Given the description of an element on the screen output the (x, y) to click on. 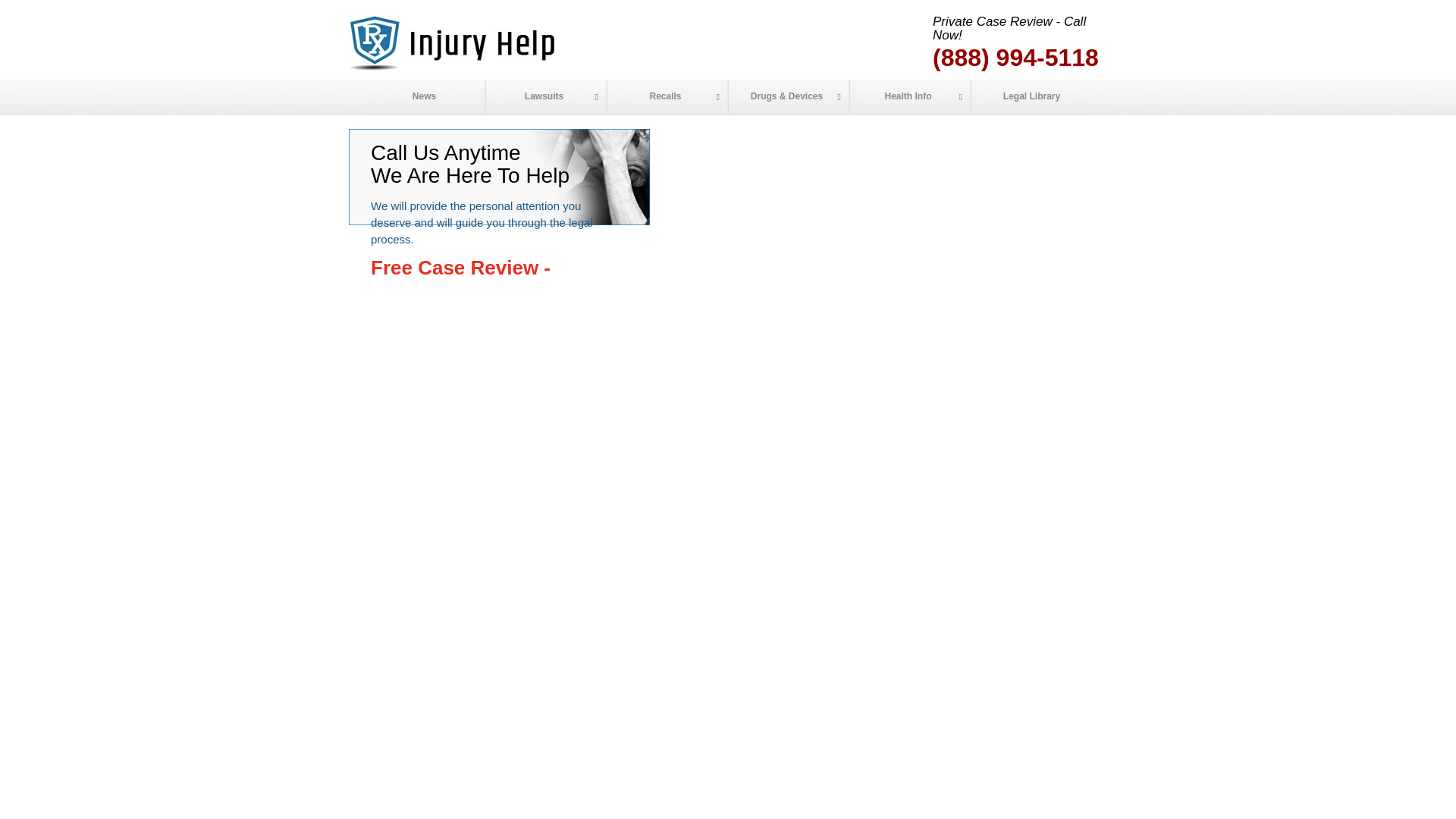
Legal Library (1031, 97)
Health Info (909, 97)
Recalls (667, 97)
News (424, 97)
Lawsuits (545, 97)
